Given the description of an element on the screen output the (x, y) to click on. 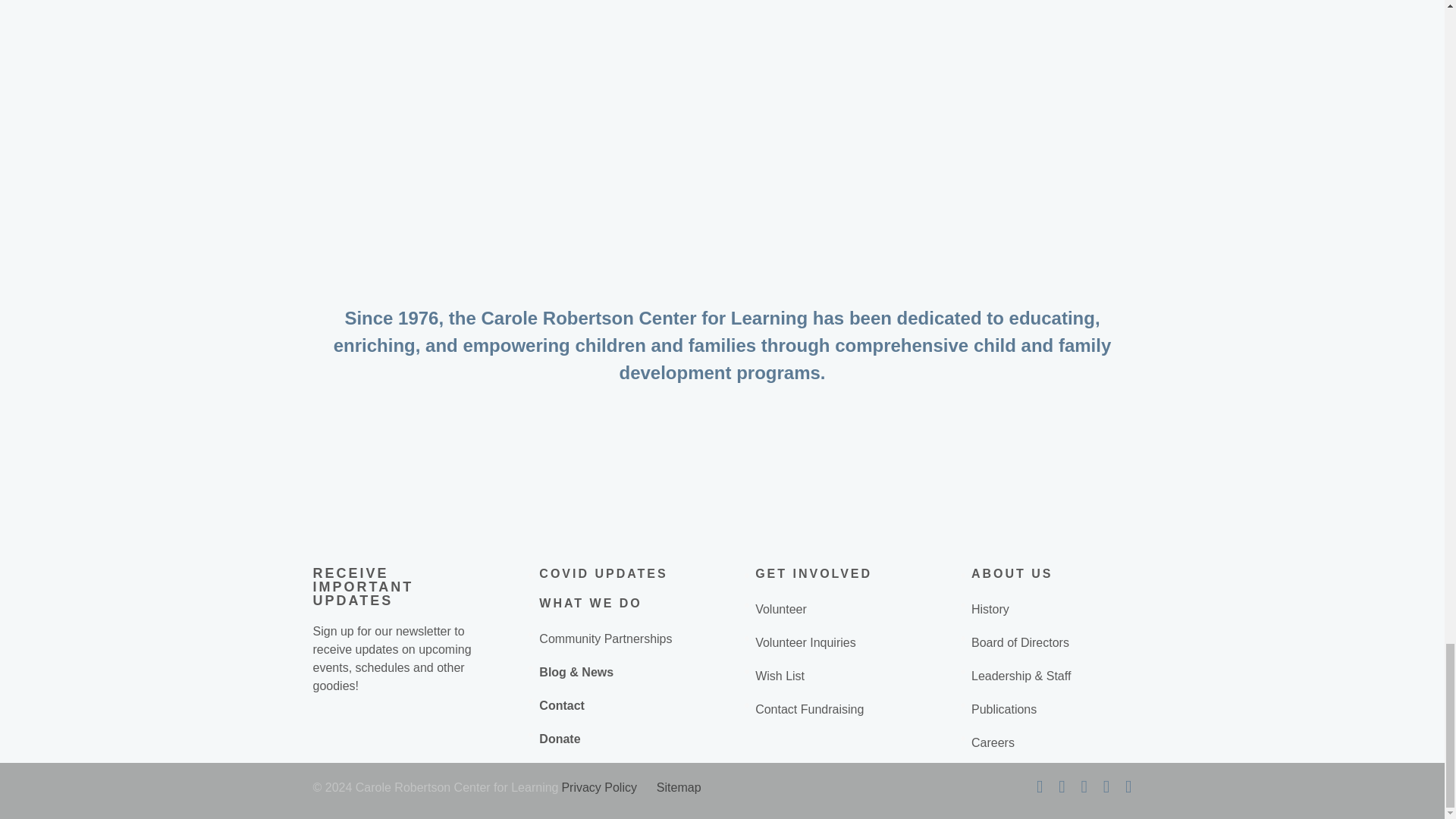
logo-crcl (721, 214)
